Given the description of an element on the screen output the (x, y) to click on. 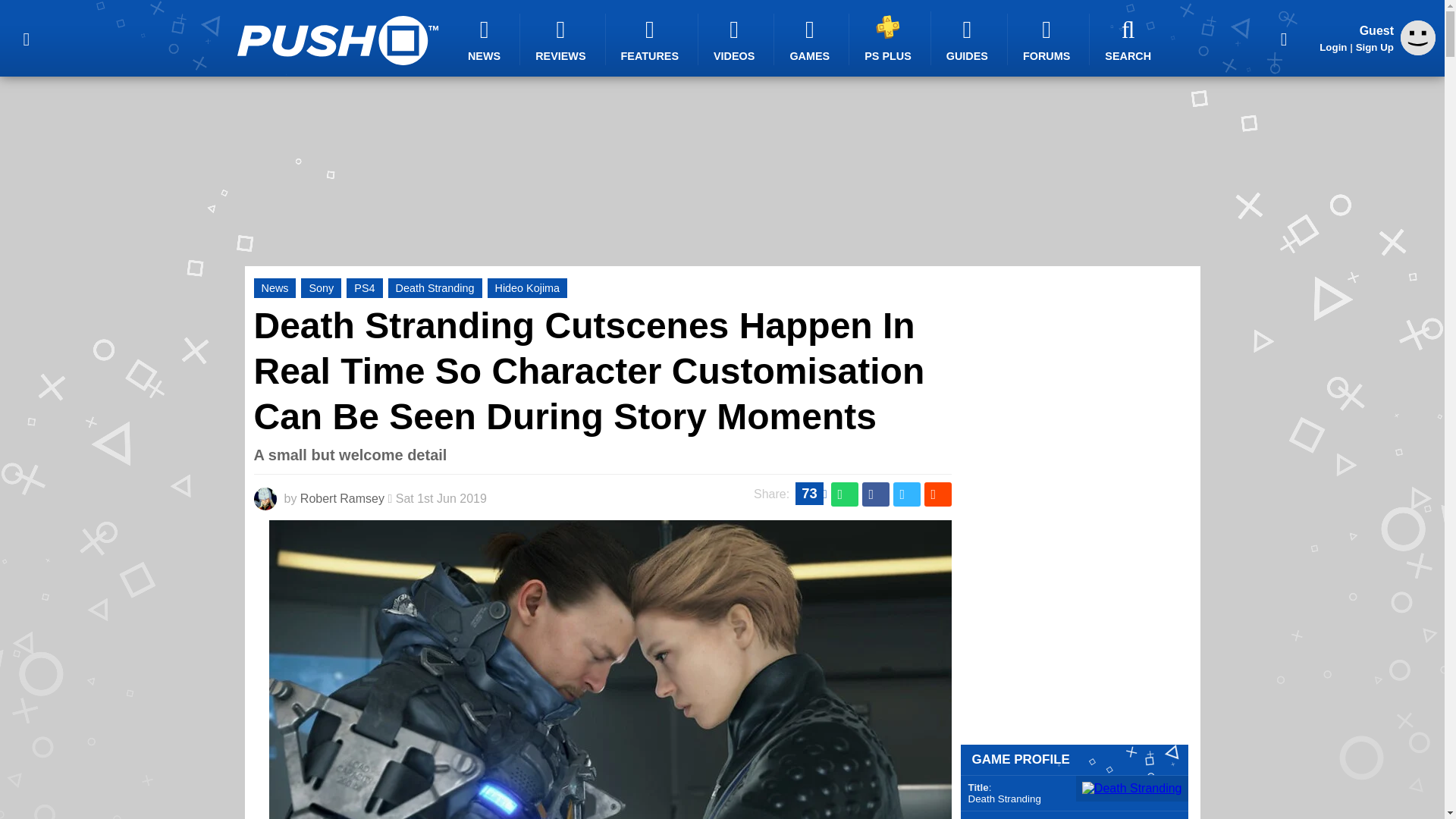
Share this on Facebook (874, 494)
Push Square (336, 40)
Menu (26, 37)
FEATURES (651, 39)
Login (1332, 47)
Death Stranding (434, 288)
Share this on Reddit (936, 494)
SEARCH (1129, 39)
Share This Page (1283, 37)
Guest (1417, 37)
Hideo Kojima (527, 288)
GAMES (811, 39)
NEWS (485, 39)
Robert Ramsey (341, 498)
